Given the description of an element on the screen output the (x, y) to click on. 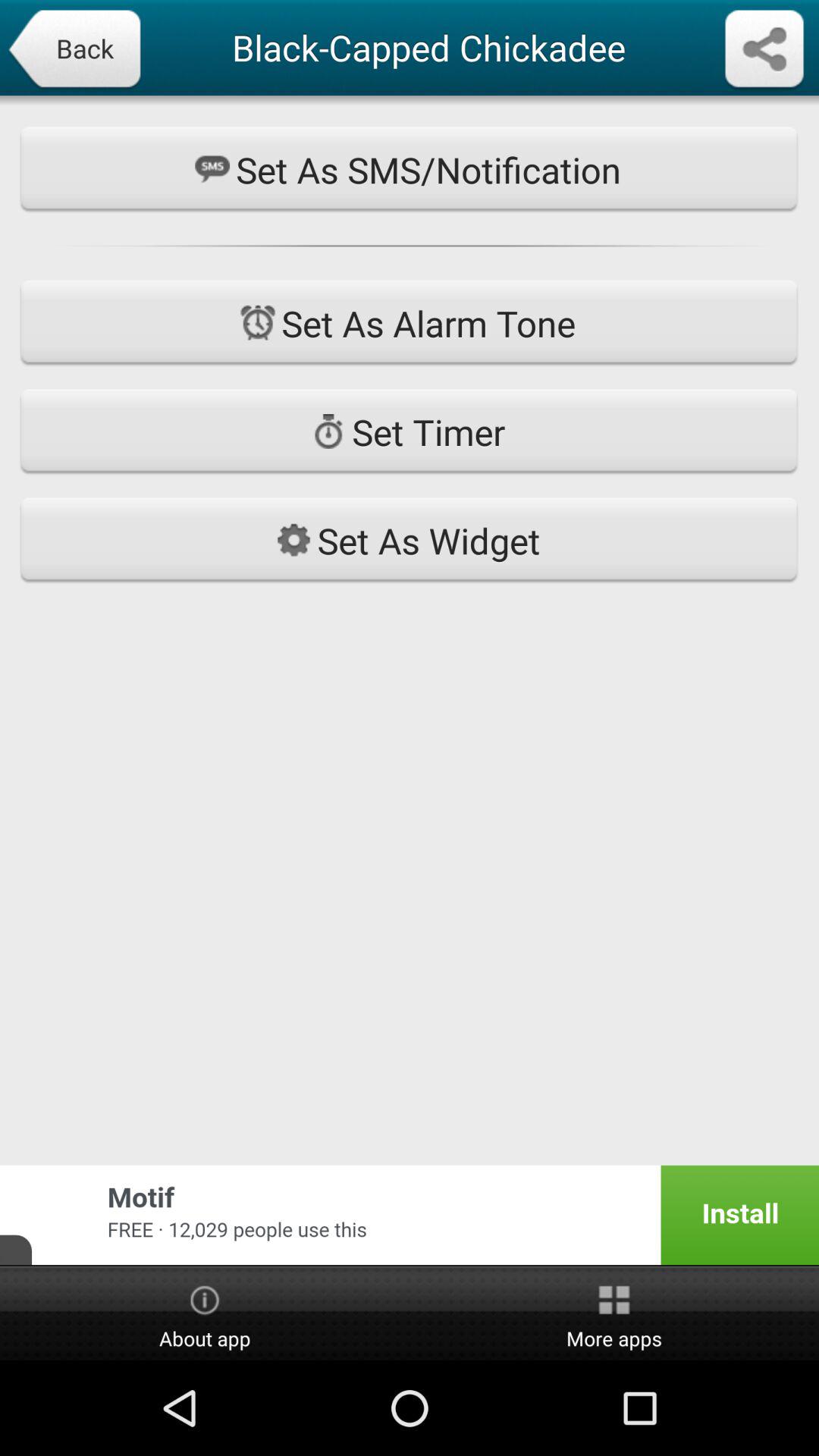
turn off icon next to more apps (204, 1314)
